Given the description of an element on the screen output the (x, y) to click on. 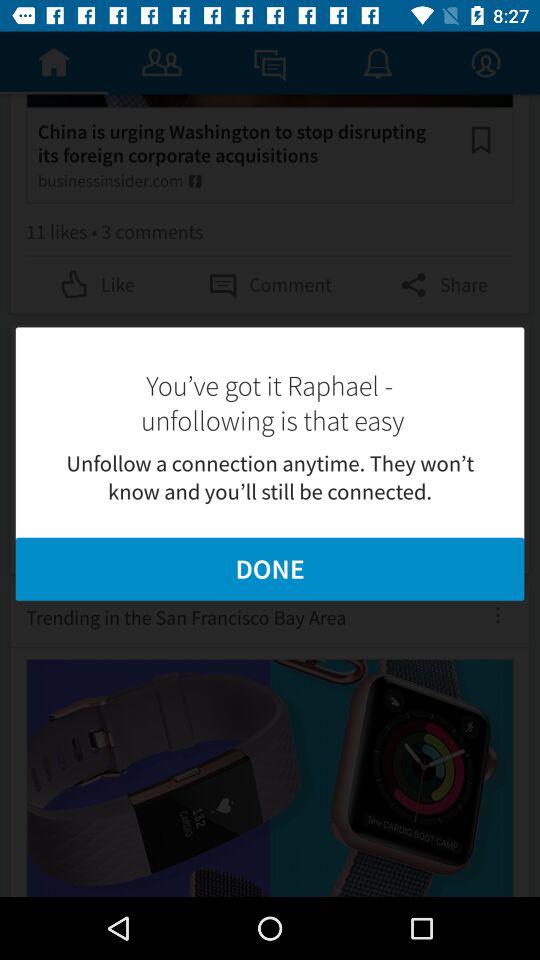
click on the icon right to comment (442, 285)
click the bell icon on the web page (377, 62)
